Given the description of an element on the screen output the (x, y) to click on. 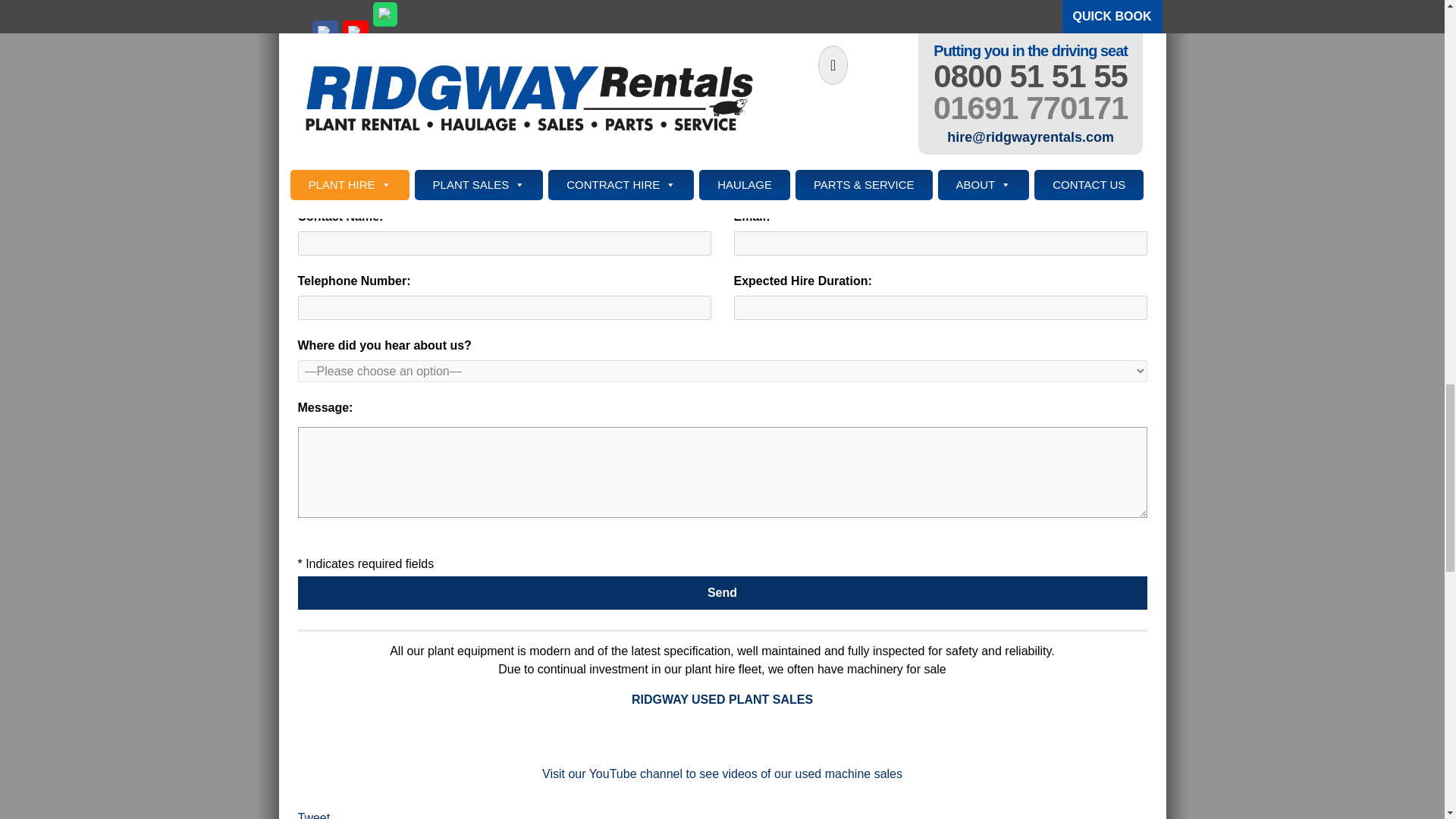
Read More (500, 4)
Send (722, 592)
Read More (781, 4)
